Given the description of an element on the screen output the (x, y) to click on. 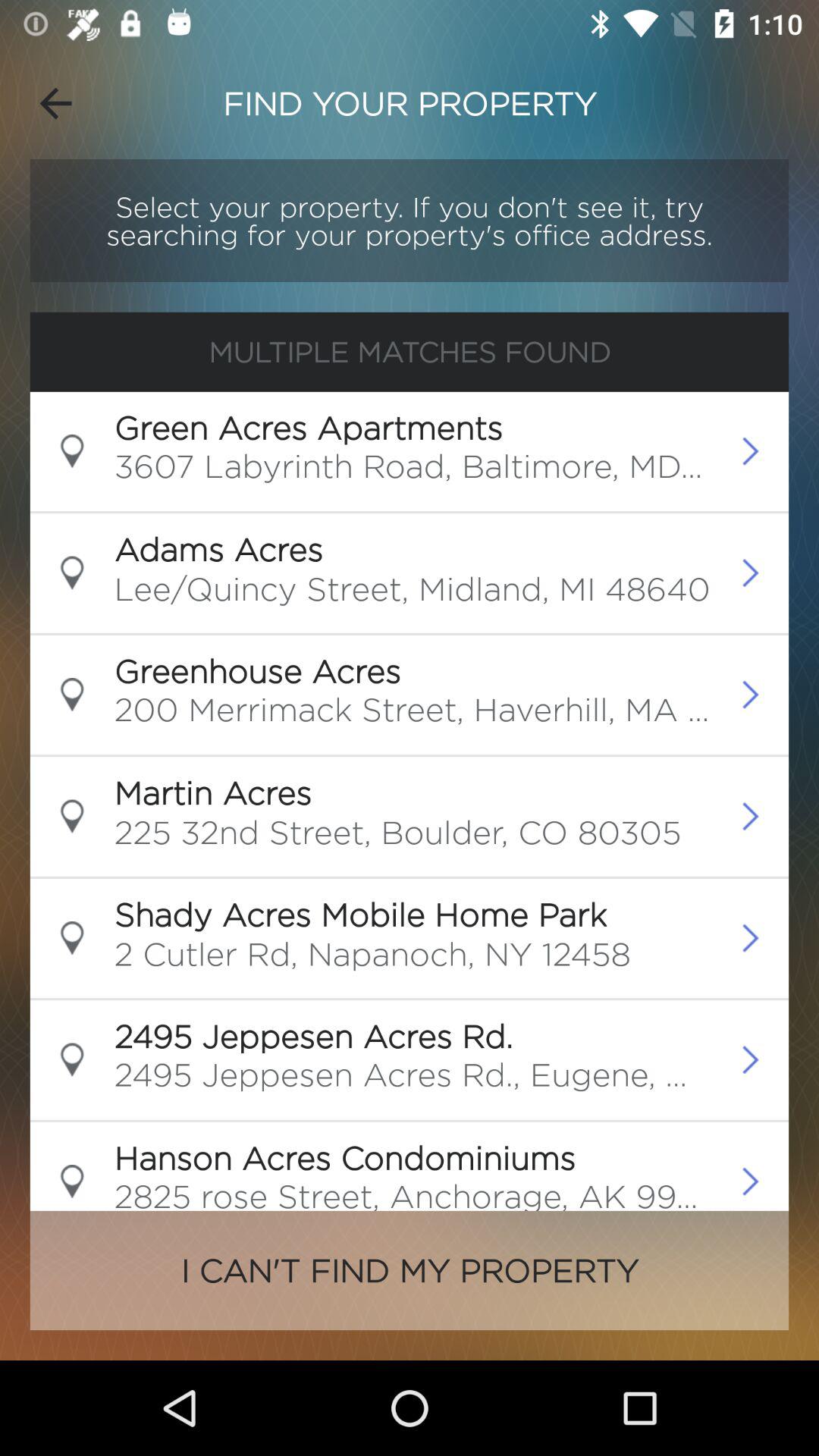
select item above 2825 rose street icon (344, 1157)
